Given the description of an element on the screen output the (x, y) to click on. 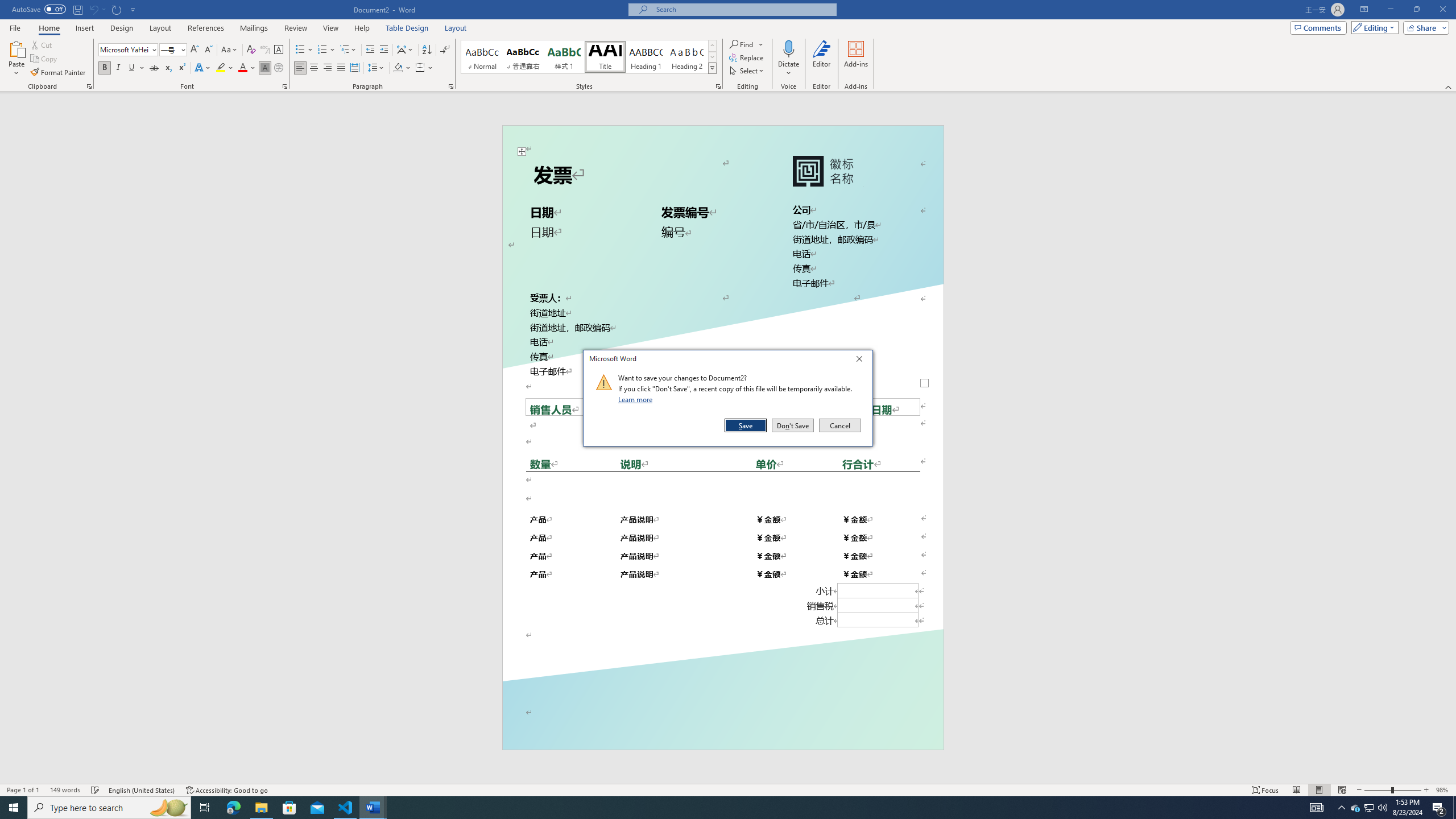
Heading 1 (646, 56)
Repeat Default Char Shading (117, 9)
Zoom 98% (1443, 790)
